Given the description of an element on the screen output the (x, y) to click on. 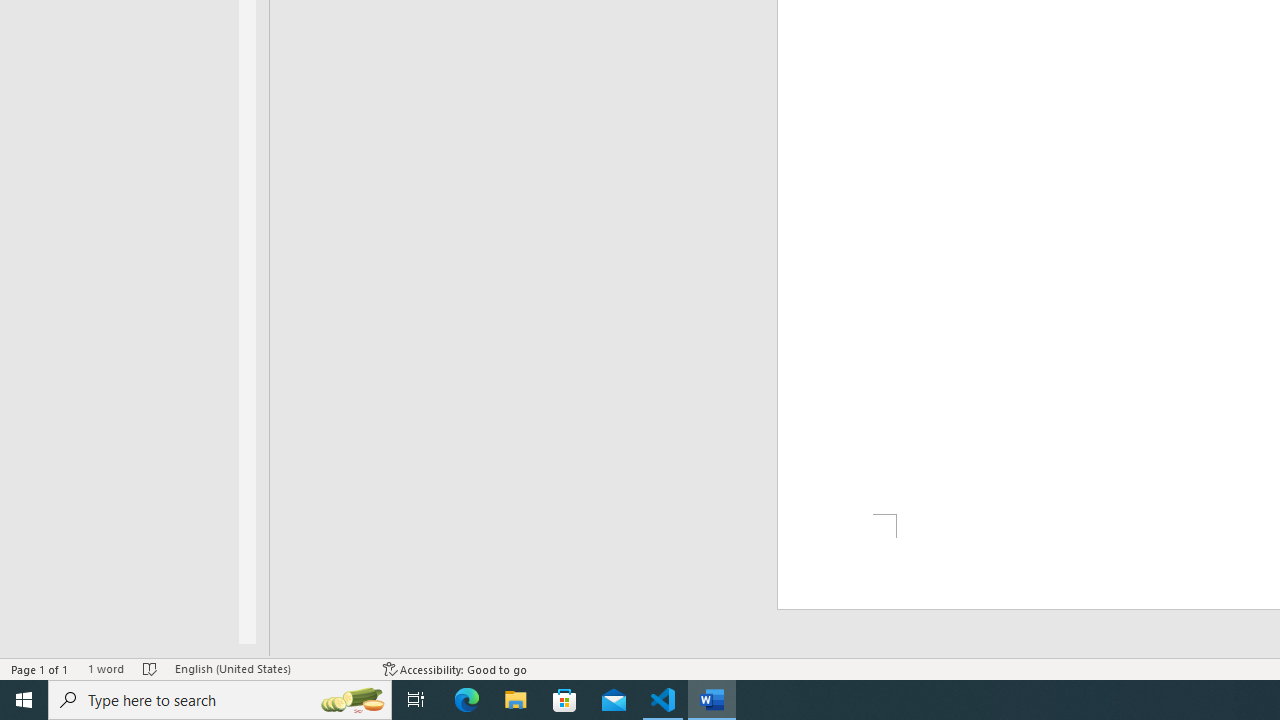
Spelling and Grammar Check No Errors (150, 668)
Language English (United States) (269, 668)
Accessibility Checker Accessibility: Good to go (455, 668)
Page Number Page 1 of 1 (39, 668)
